Given the description of an element on the screen output the (x, y) to click on. 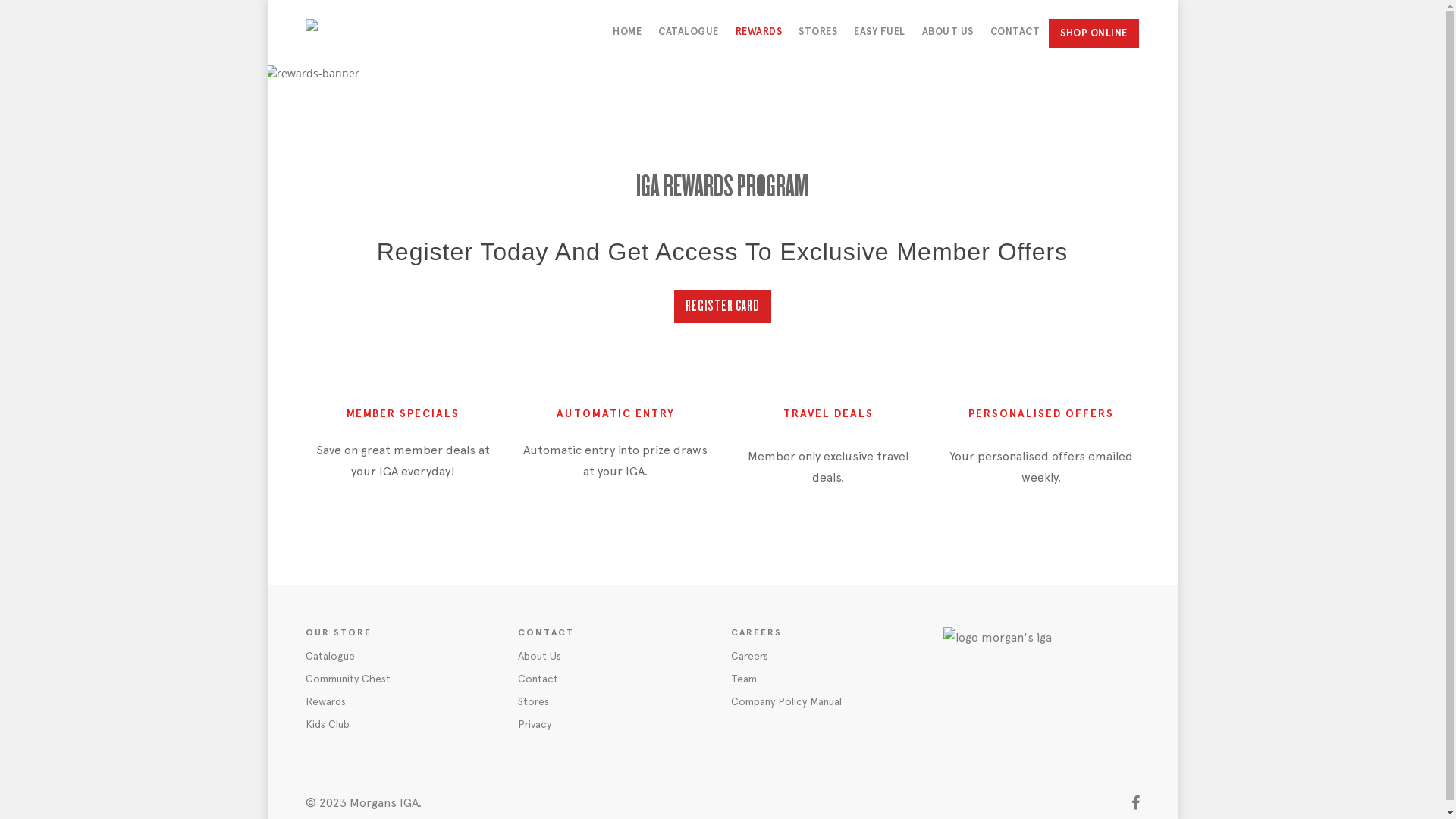
REWARDS Element type: text (759, 40)
Team Element type: text (829, 678)
About Us Element type: text (615, 655)
Careers Element type: text (829, 655)
STORES Element type: text (817, 40)
CATALOGUE Element type: text (688, 40)
Community Chest Element type: text (402, 678)
Contact Element type: text (615, 678)
Company Policy Manual Element type: text (829, 701)
Rewards Element type: text (402, 701)
SHOP ONLINE Element type: text (1093, 32)
Privacy Element type: text (615, 723)
REGISTER CARD Element type: text (721, 306)
EASY FUEL Element type: text (879, 40)
HOME Element type: text (627, 40)
ABOUT US Element type: text (947, 40)
Catalogue Element type: text (402, 655)
Stores Element type: text (615, 701)
Kids Club Element type: text (402, 723)
CONTACT Element type: text (1015, 40)
